Given the description of an element on the screen output the (x, y) to click on. 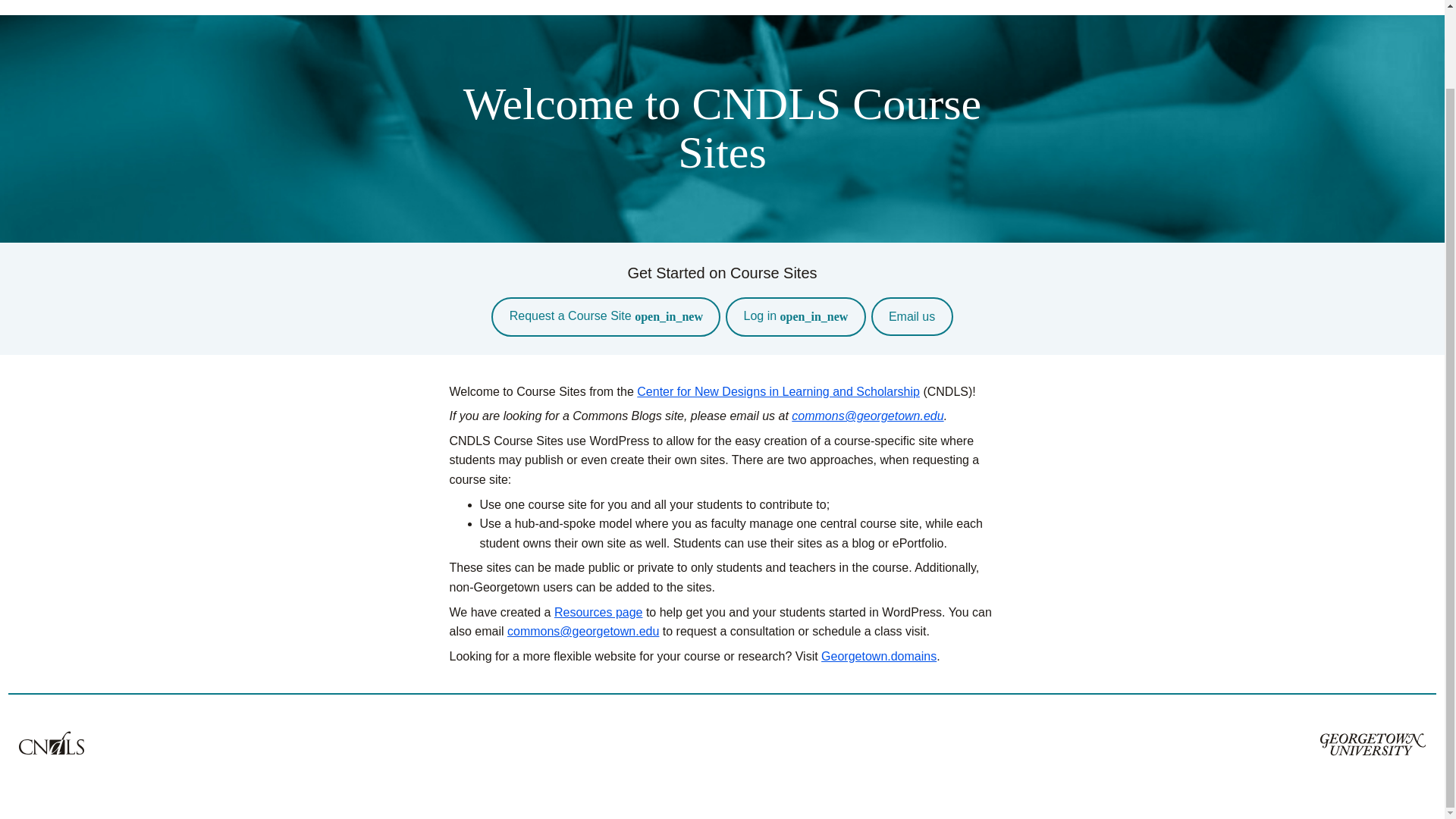
Center for New Designs in Learning and Scholarship (778, 391)
Resources (1390, 4)
Georgetown.domains (878, 656)
Home (1310, 4)
Resources page (598, 612)
Email us (911, 316)
